Given the description of an element on the screen output the (x, y) to click on. 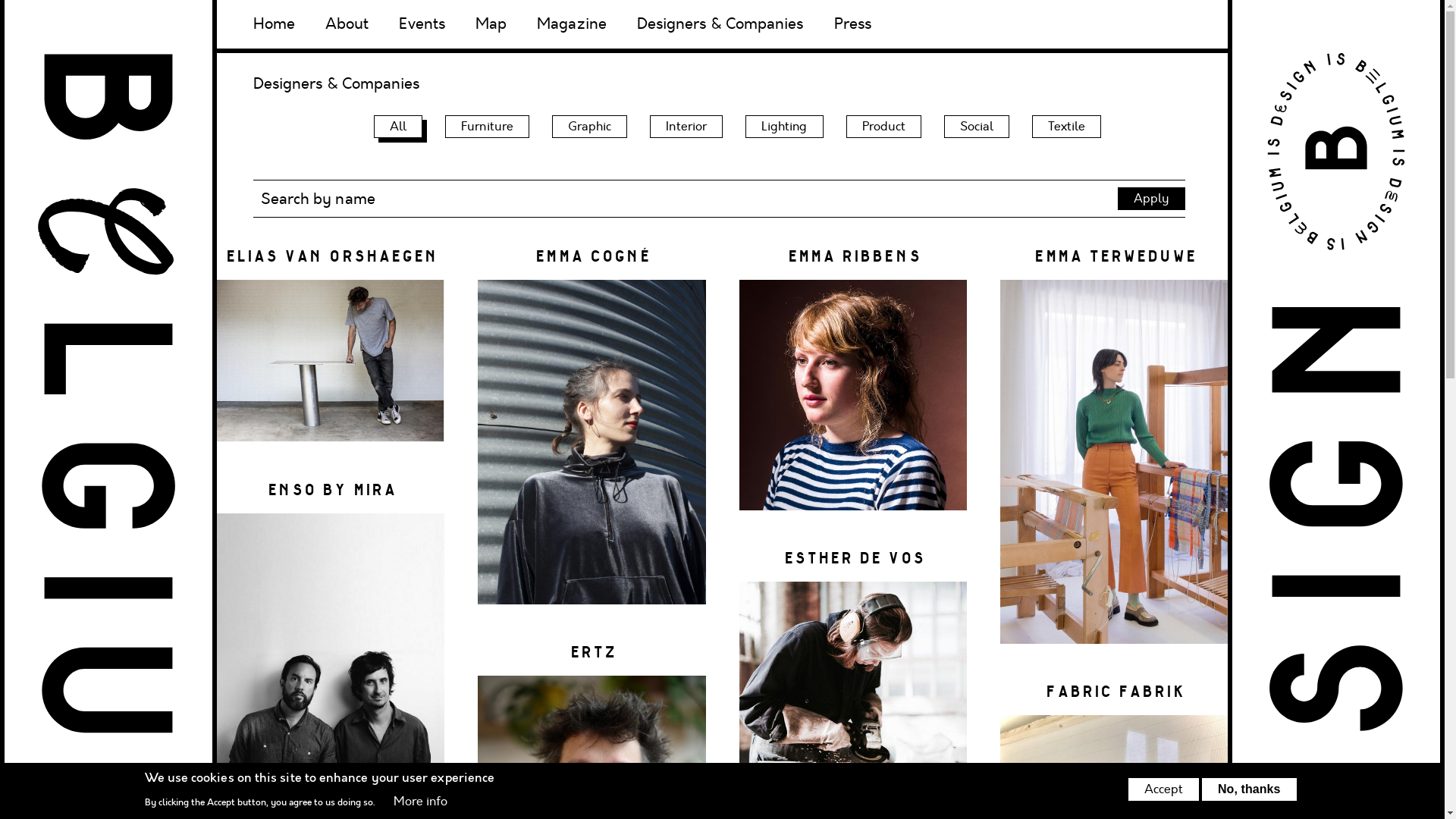
Press Element type: text (852, 23)
Textile Element type: text (1066, 126)
No, thanks Element type: text (1248, 789)
Apply Element type: text (1151, 198)
About Element type: text (346, 23)
Map Element type: text (490, 23)
ELIAS VAN ORSHAEGEN Element type: text (330, 349)
Accept Element type: text (1163, 789)
Magazine Element type: text (571, 23)
Product Element type: text (884, 126)
ESTHER DE VOS Element type: text (852, 683)
Furniture Element type: text (487, 126)
EMMA TERWEDUWE Element type: text (1113, 449)
Interior Element type: text (685, 126)
Home Element type: text (273, 23)
Social Element type: text (976, 126)
More info Element type: text (420, 801)
Designers & Companies Element type: text (720, 23)
Events Element type: text (421, 23)
Lighting Element type: text (784, 126)
EMMA RIBBENS Element type: text (852, 383)
Graphic Element type: text (589, 126)
All Element type: text (397, 126)
